Given the description of an element on the screen output the (x, y) to click on. 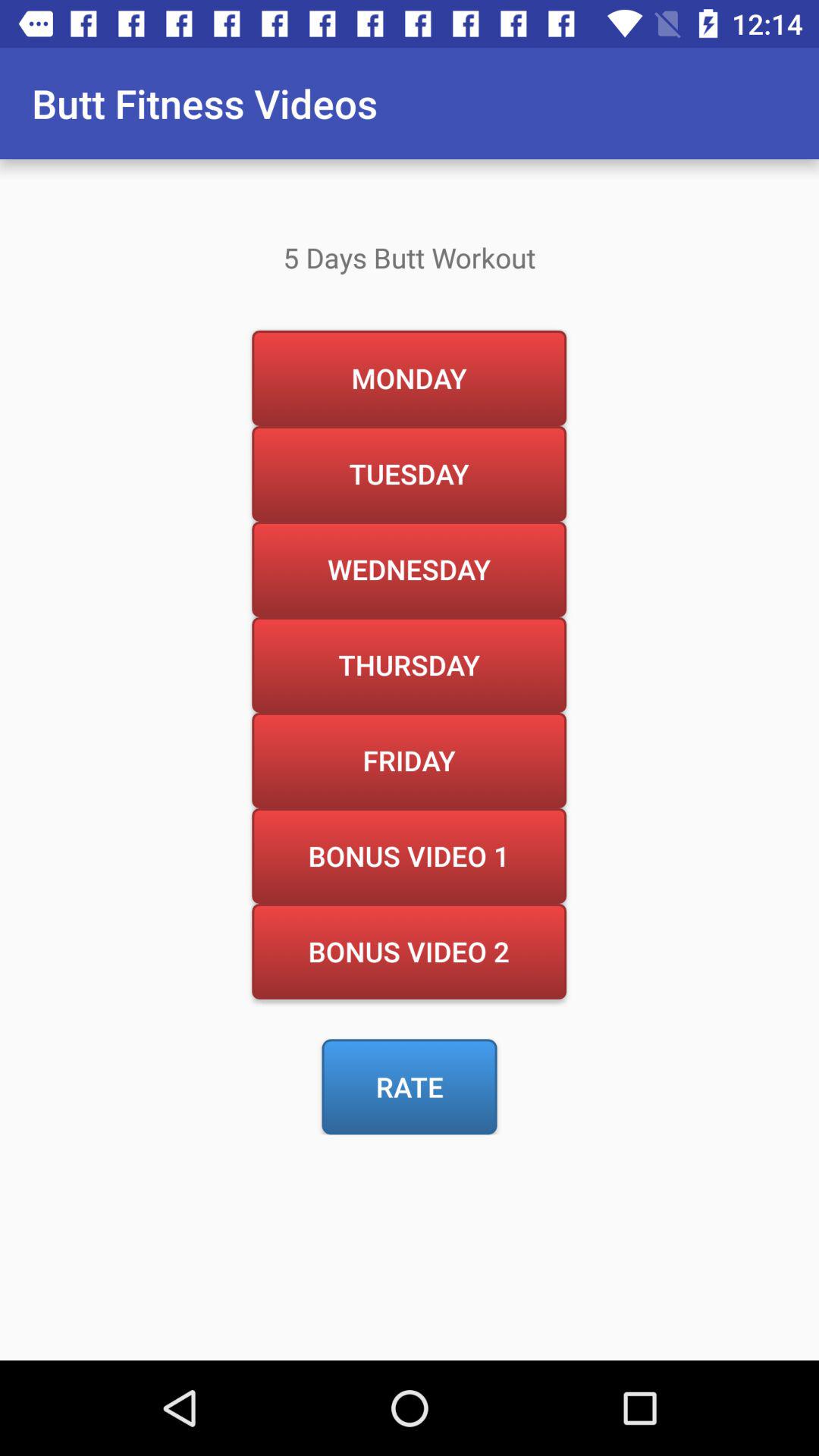
launch the monday (408, 377)
